Given the description of an element on the screen output the (x, y) to click on. 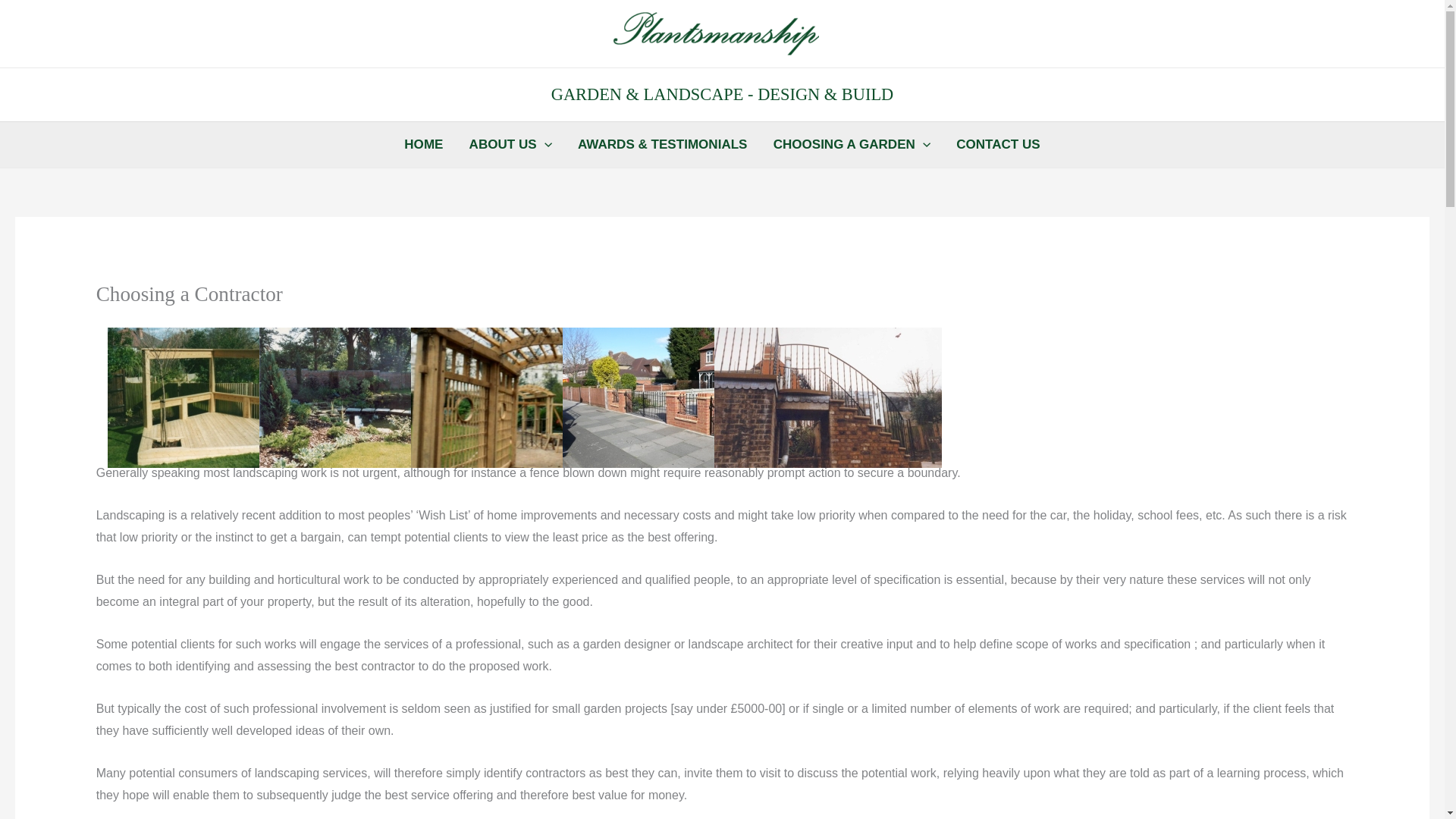
5029 (828, 397)
CONTACT US (997, 144)
ABOUT US (510, 144)
5032 (676, 397)
HOME (423, 144)
7123 (372, 397)
5029 (827, 402)
4007 (220, 397)
6011 (524, 397)
5032 (675, 402)
CHOOSING A GARDEN (851, 144)
7123 (373, 402)
4007 (221, 402)
6011 (524, 402)
